Given the description of an element on the screen output the (x, y) to click on. 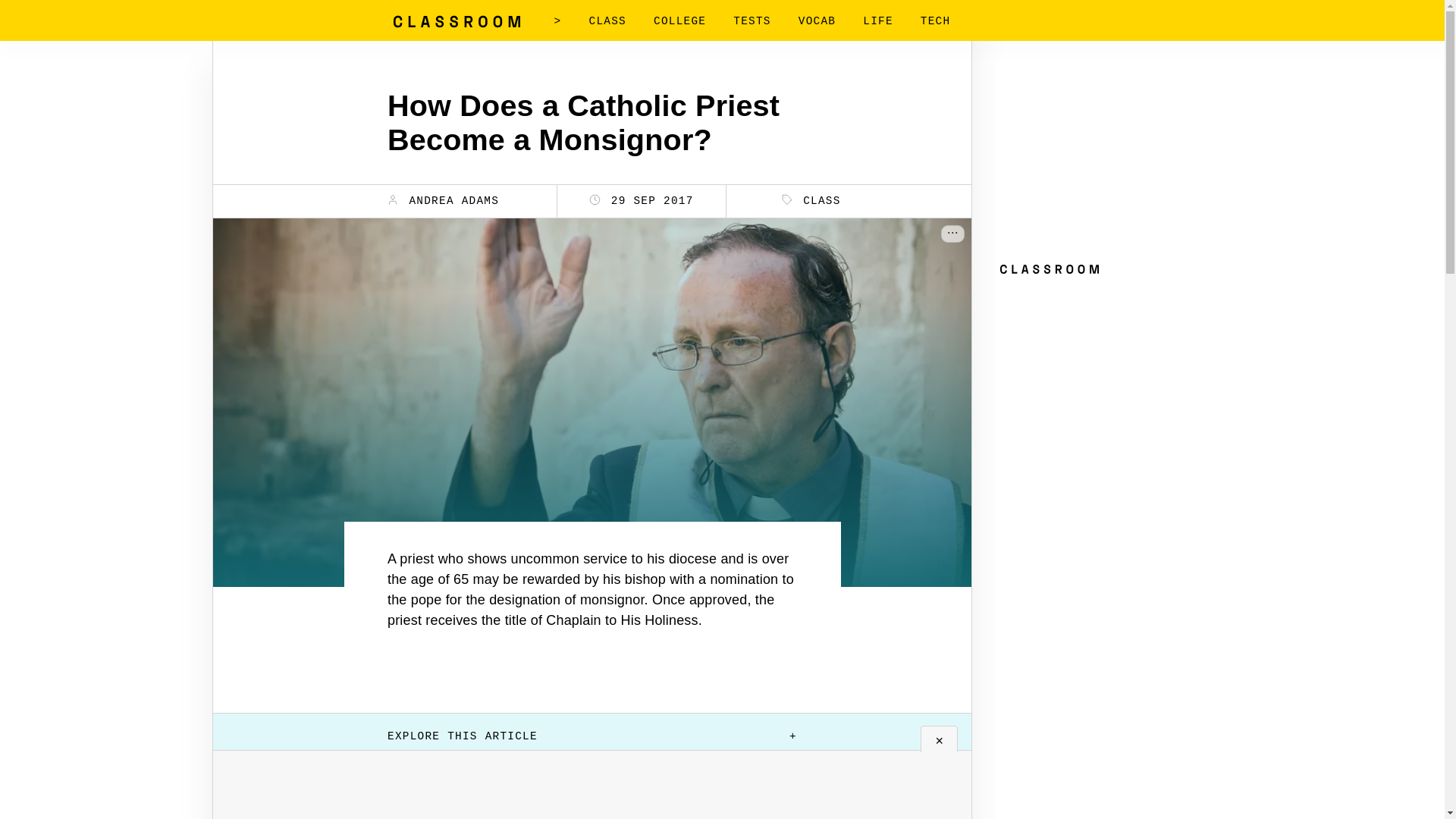
LIFE (878, 21)
CLASS (811, 200)
CLASS (607, 21)
TECH (935, 21)
VOCAB (816, 21)
COLLEGE (679, 21)
TESTS (751, 21)
